Given the description of an element on the screen output the (x, y) to click on. 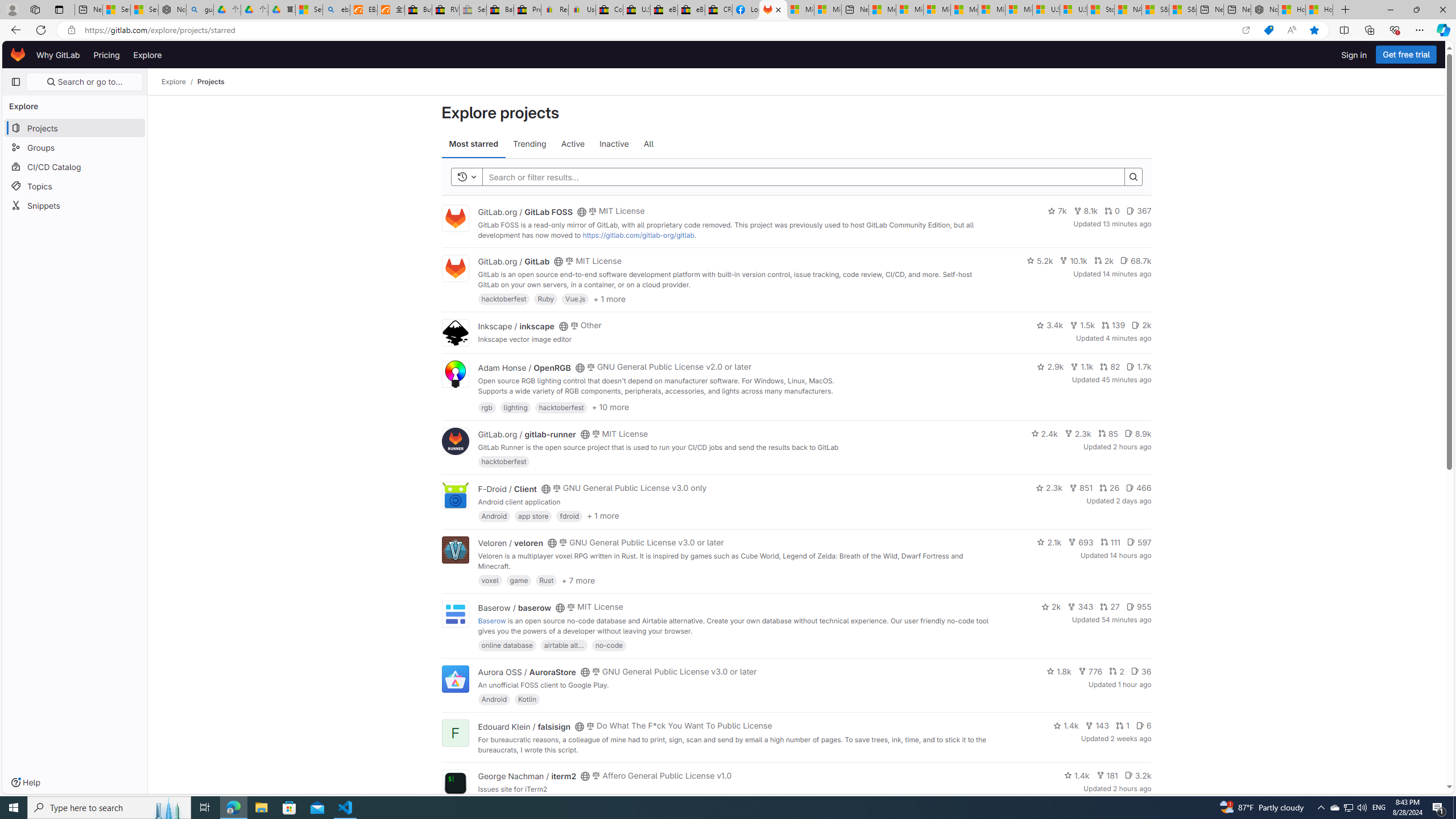
Class: s16 (584, 776)
Rust (545, 579)
Inactive (614, 143)
Kotlin (527, 699)
597 (1138, 541)
Get free trial (1406, 54)
7k (1056, 210)
no-code (608, 644)
27 (1109, 606)
George Nachman / iterm2 (526, 776)
Trending (529, 143)
Groups (74, 147)
3.2k (1137, 775)
